Given the description of an element on the screen output the (x, y) to click on. 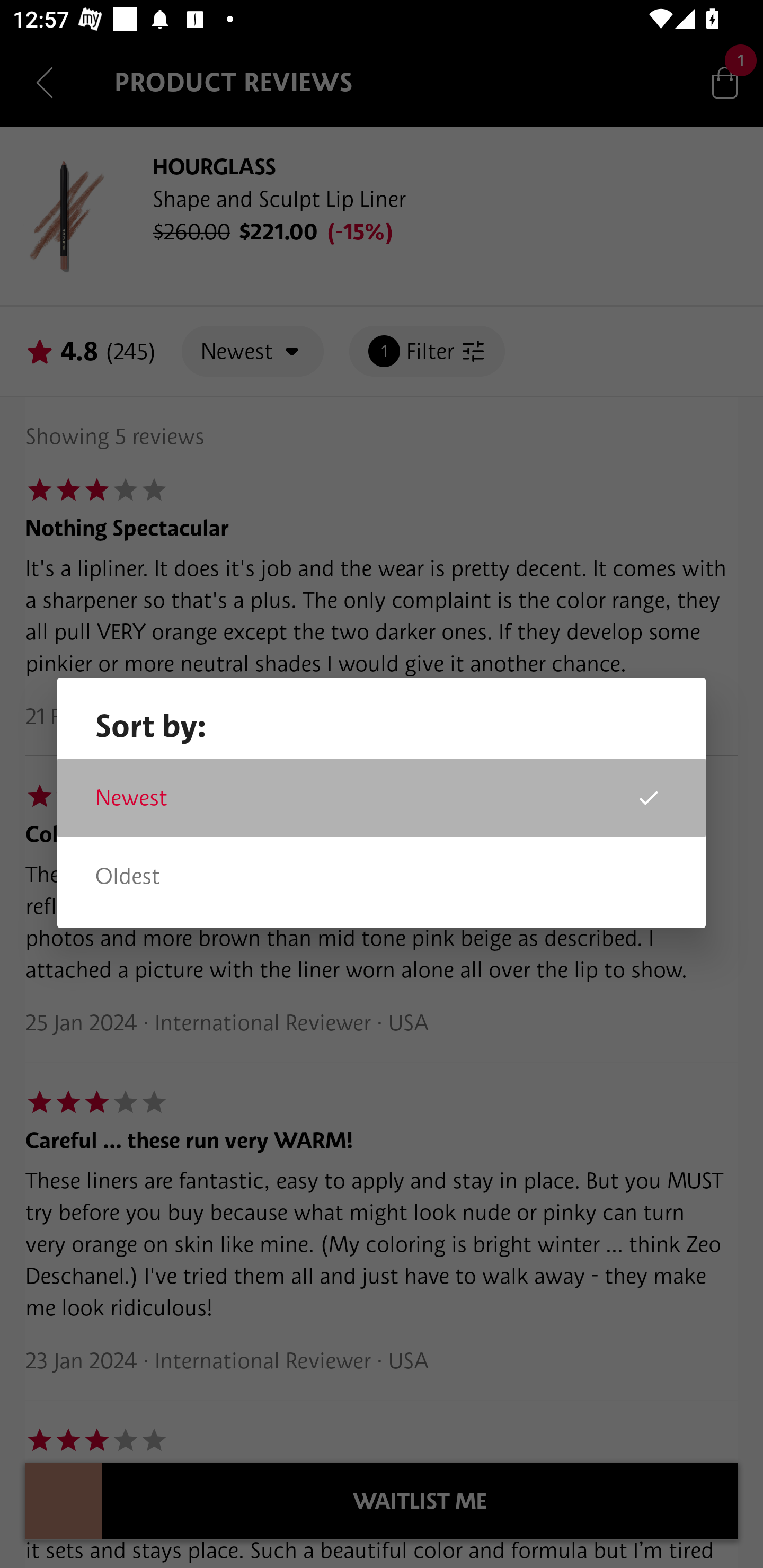
Newest (381, 797)
Oldest (381, 876)
